Given the description of an element on the screen output the (x, y) to click on. 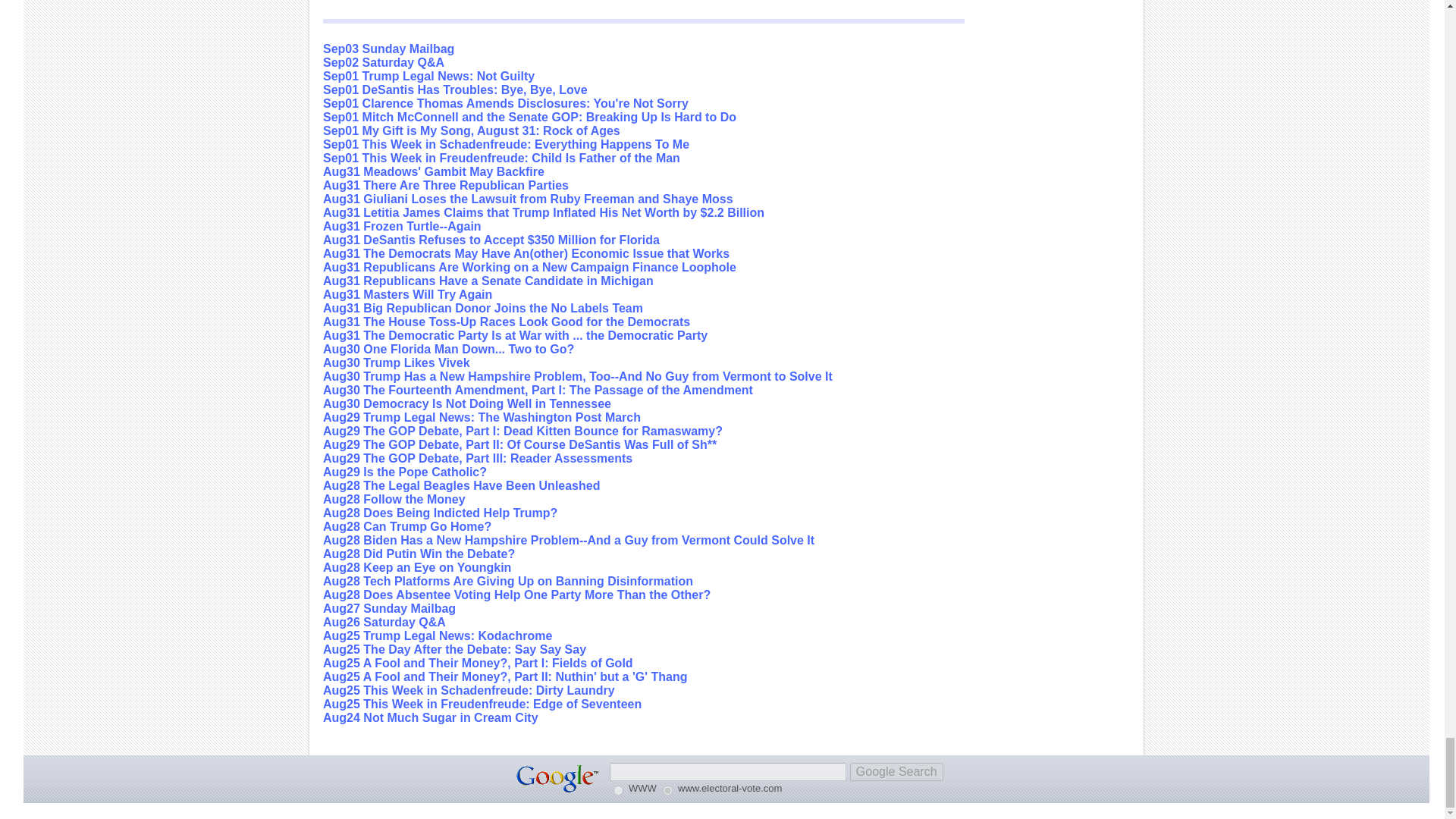
www.electoral-vote.com (667, 790)
Google Search (896, 771)
